Given the description of an element on the screen output the (x, y) to click on. 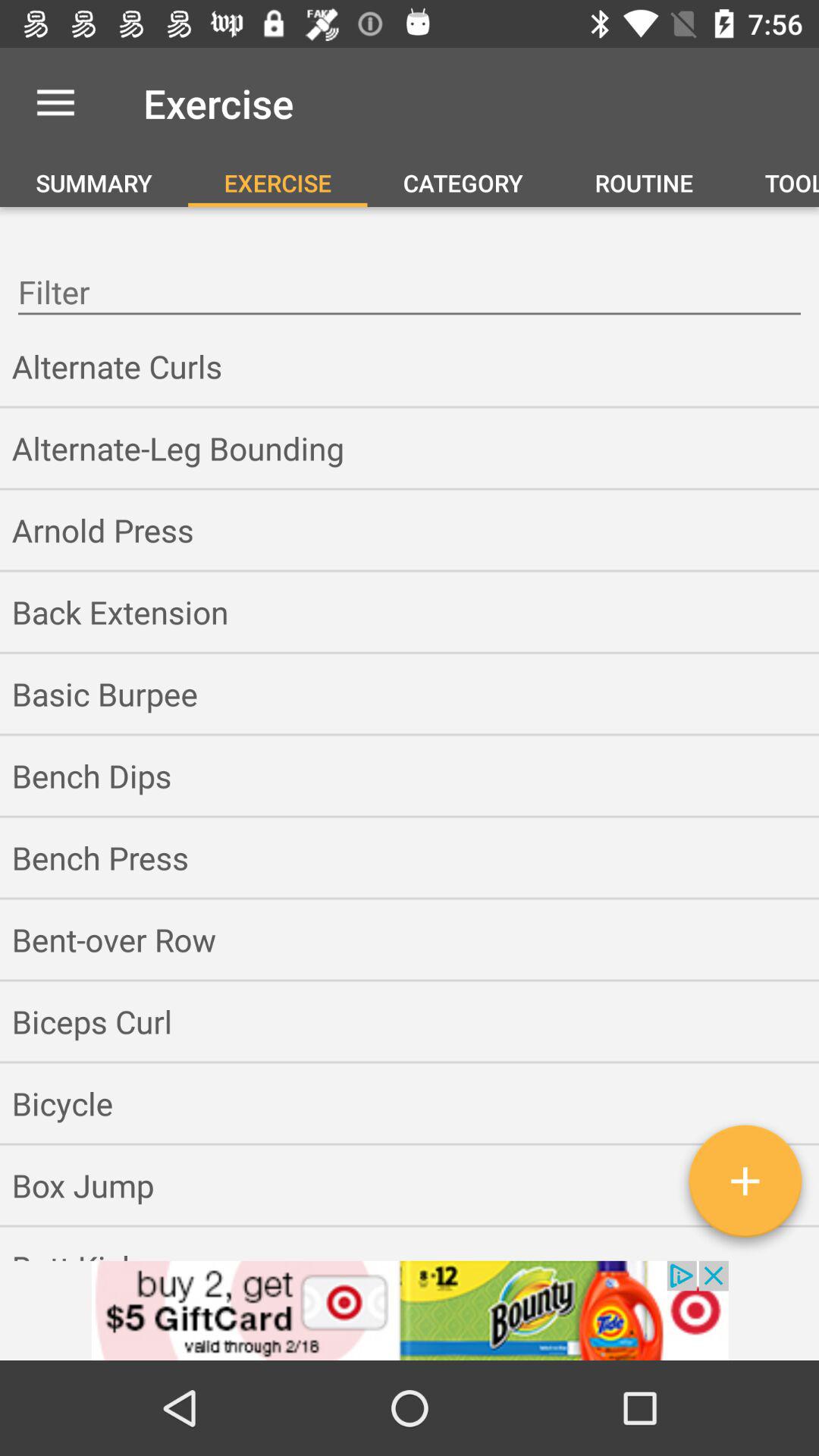
add the option (409, 1310)
